Given the description of an element on the screen output the (x, y) to click on. 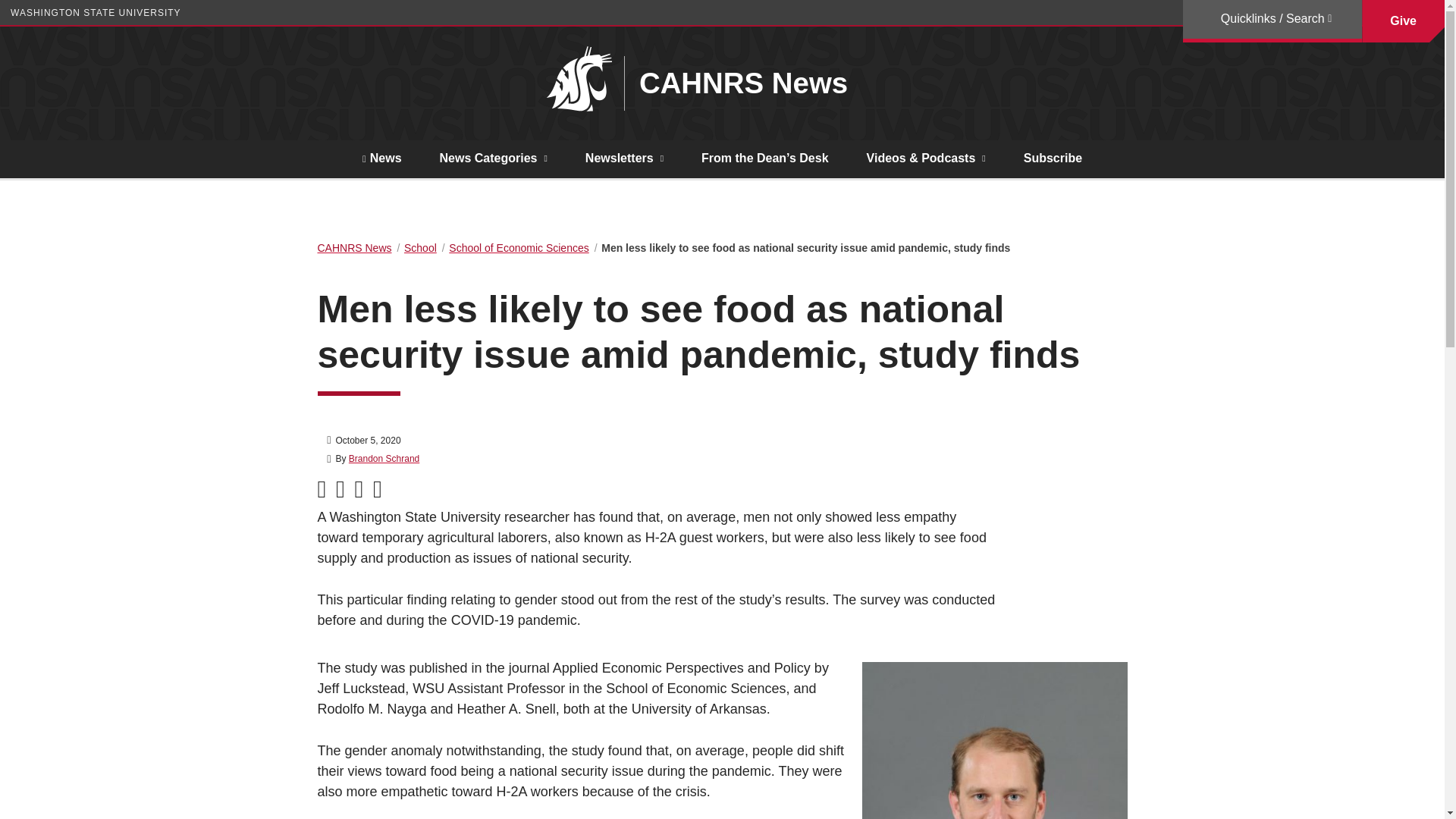
Go to the School Category archives. (420, 247)
WASHINGTON STATE UNIVERSITY (96, 12)
Go to CAHNRS News. (354, 247)
CAHNRS News (735, 83)
Go to the School of Economic Sciences Category archives. (518, 247)
